Given the description of an element on the screen output the (x, y) to click on. 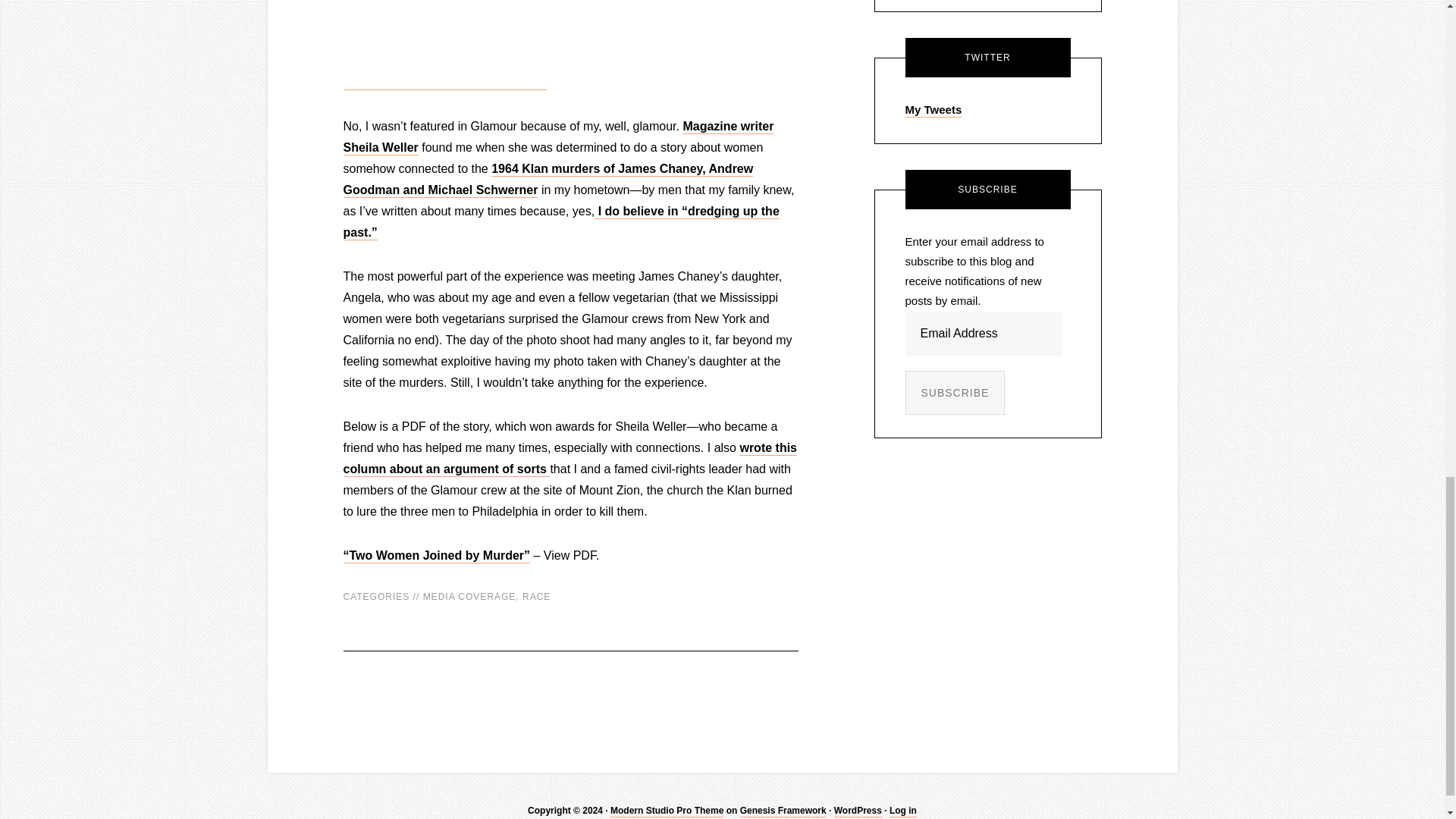
WordPress (858, 811)
wrote this column about an argument of sorts (569, 458)
RACE (536, 596)
Log in (903, 811)
Subscribe (955, 392)
MEDIA COVERAGE (469, 596)
My Tweets (933, 110)
Genesis Framework (783, 811)
Modern Studio Pro Theme (666, 811)
Magazine writer Sheila Weller (557, 137)
Subscribe (955, 392)
